Given the description of an element on the screen output the (x, y) to click on. 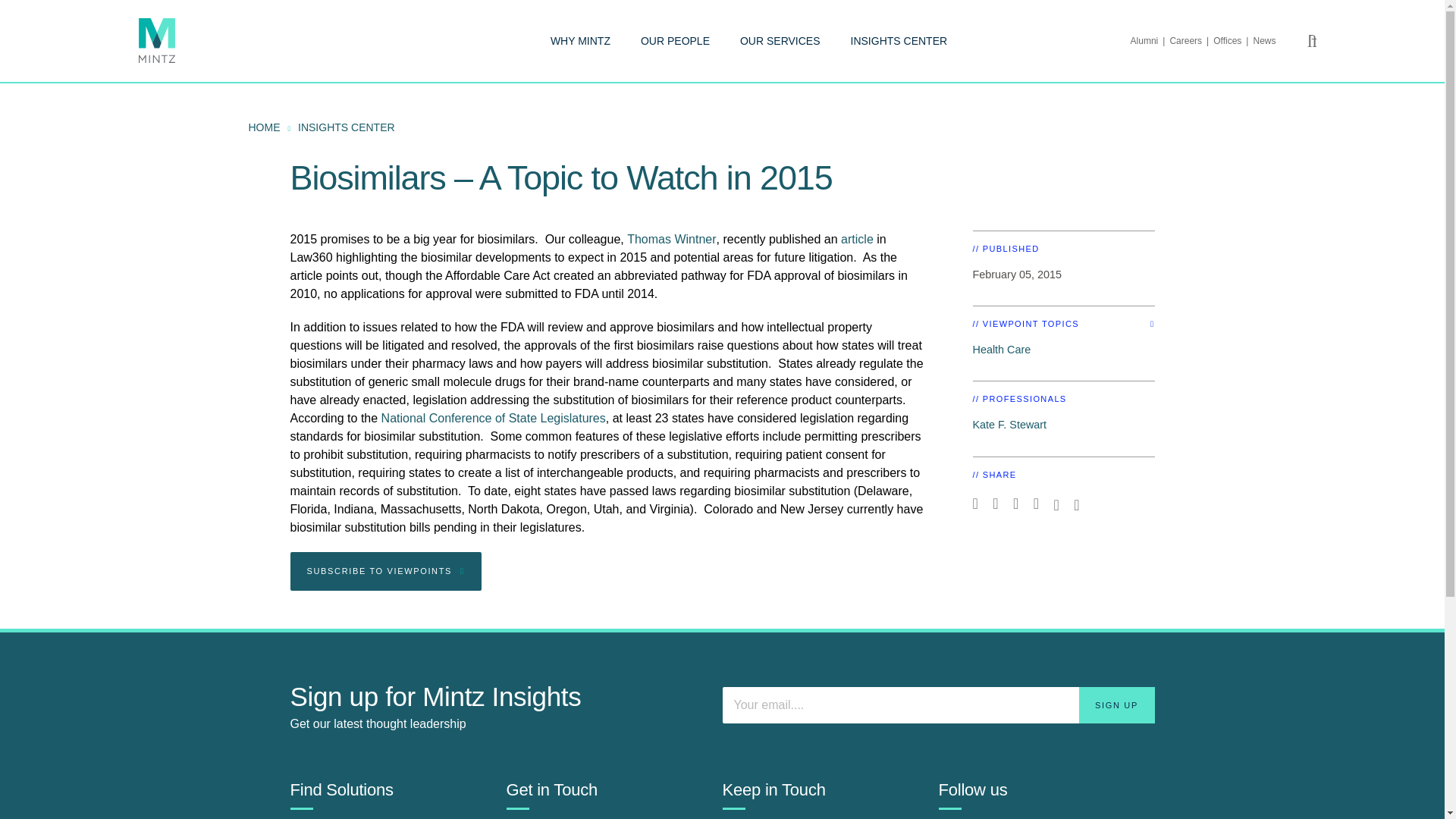
Careers (1190, 40)
Offices (1232, 40)
HOME (264, 127)
Alumni (1150, 40)
Health Care (1001, 349)
INSIGHTS CENTER (898, 40)
OUR SERVICES (780, 40)
Sign Up (1116, 705)
News (1263, 40)
